Given the description of an element on the screen output the (x, y) to click on. 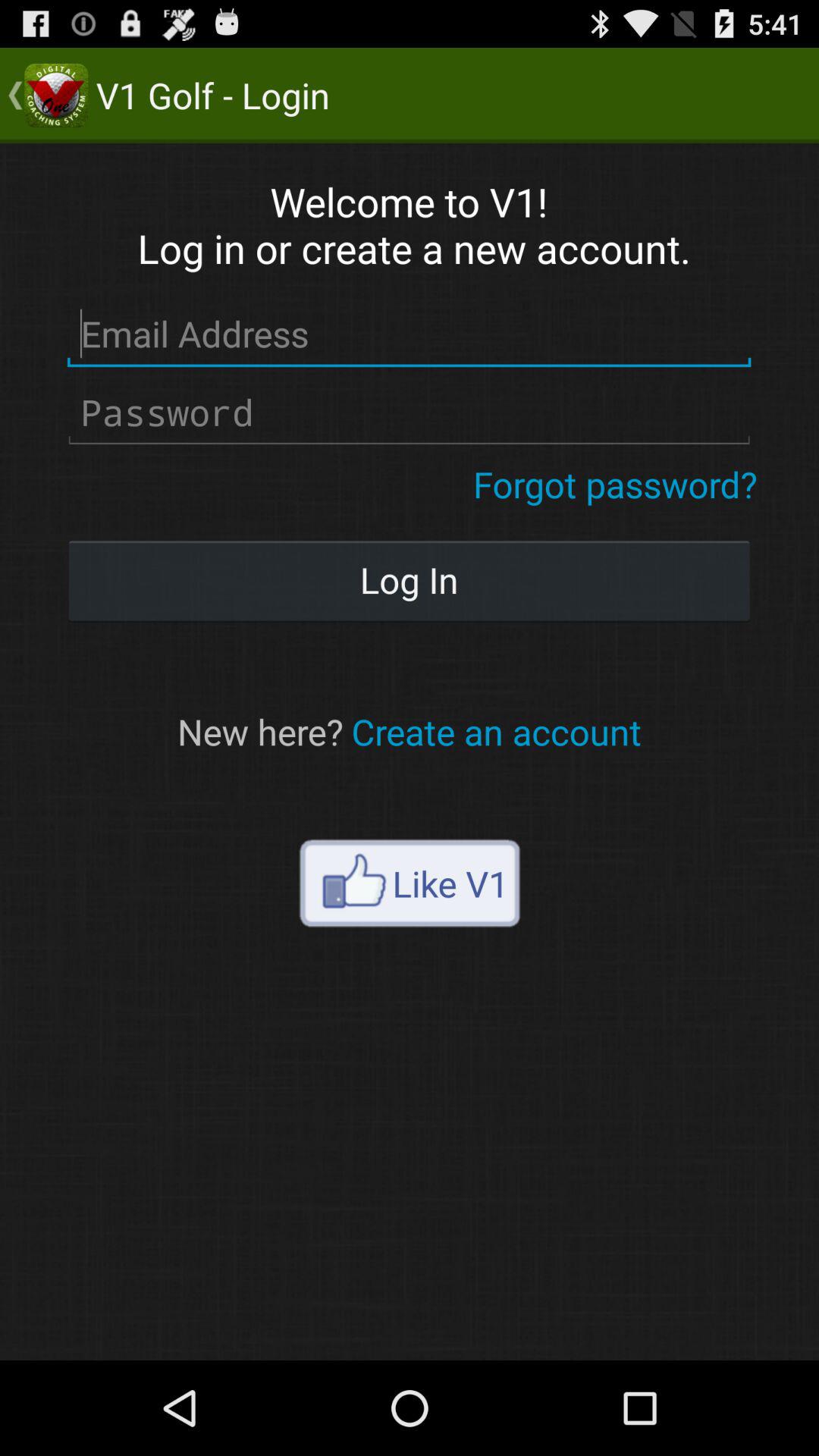
click on create an account (496, 731)
